Given the description of an element on the screen output the (x, y) to click on. 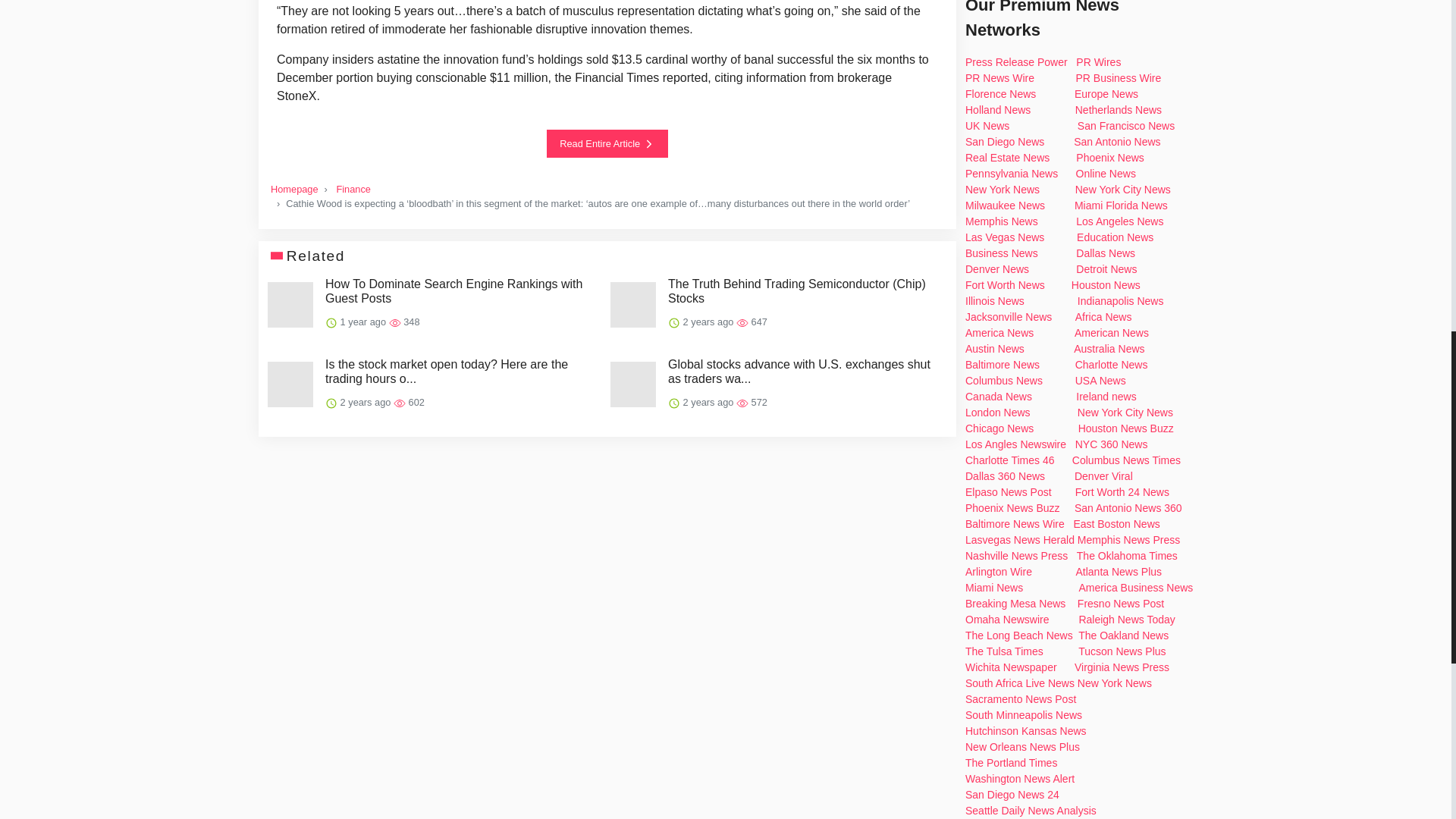
How To Dominate Search Engine Rankings with Guest Posts (461, 290)
Read Entire Article (607, 143)
How To Dominate Search Engine Rankings with Guest Posts (461, 290)
Financial Times (617, 77)
Finance (353, 188)
Homepage (294, 188)
